Given the description of an element on the screen output the (x, y) to click on. 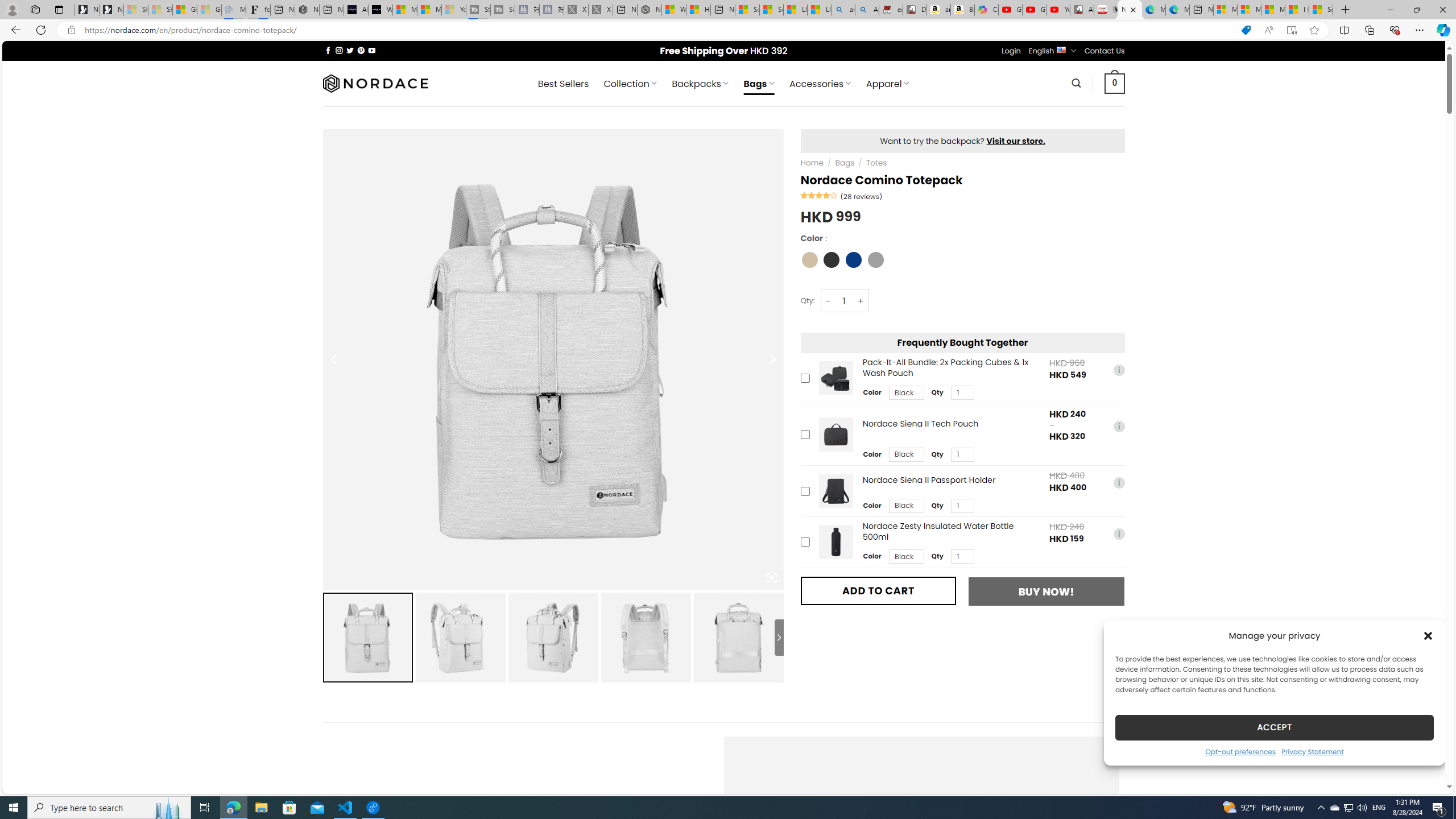
Class: cmplz-close (1428, 635)
Streaming Coverage | T3 - Sleeping (478, 9)
amazon.in/dp/B0CX59H5W7/?tag=gsmcom05-21 (938, 9)
BUY NOW! (1046, 591)
All Cubot phones (1082, 9)
Class: iconic-woothumbs-fullscreen (771, 577)
